Given the description of an element on the screen output the (x, y) to click on. 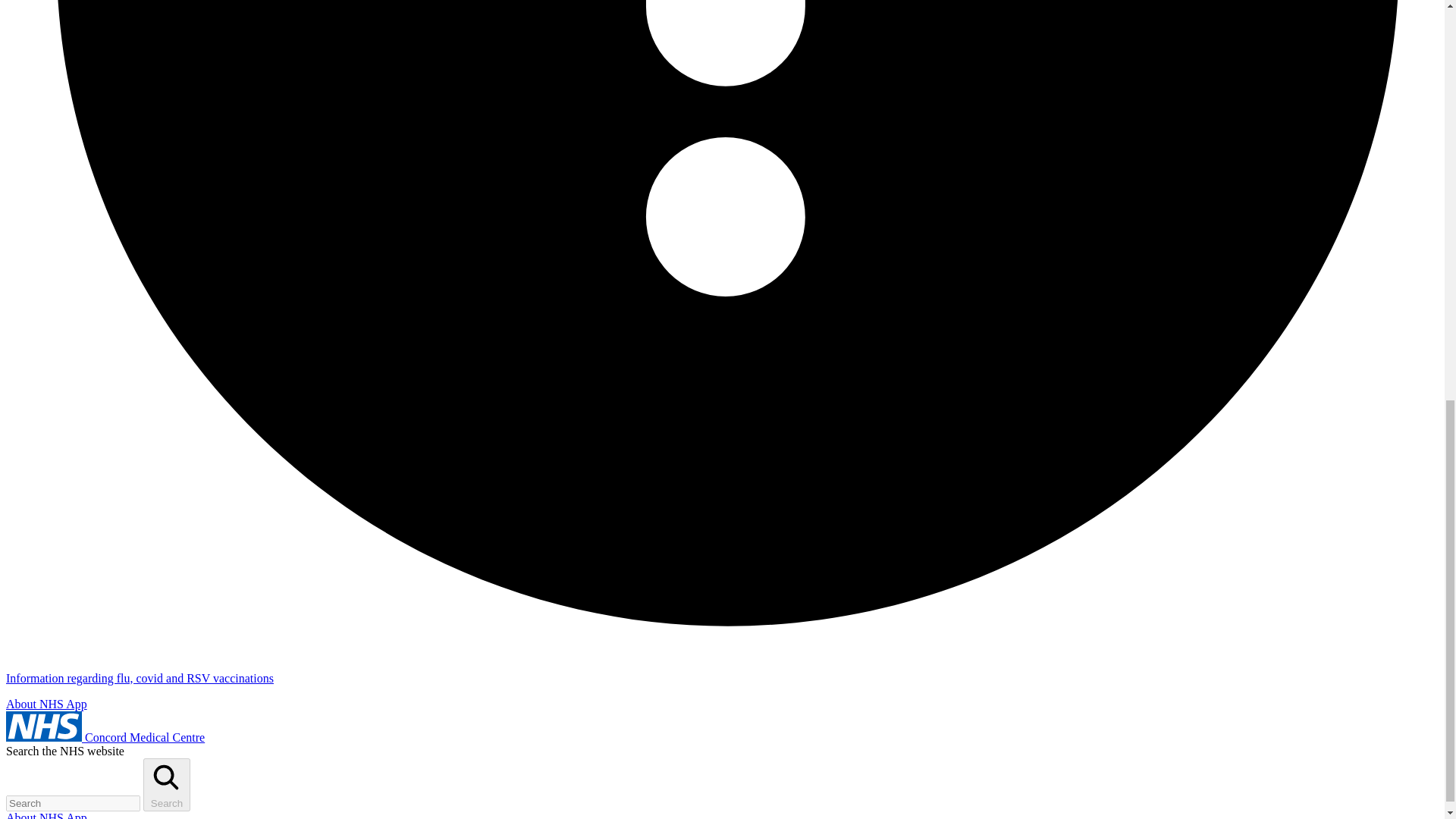
Concord Medical Centre (105, 737)
Information regarding flu, covid and RSV vaccinations (139, 677)
About NHS App (46, 703)
